Given the description of an element on the screen output the (x, y) to click on. 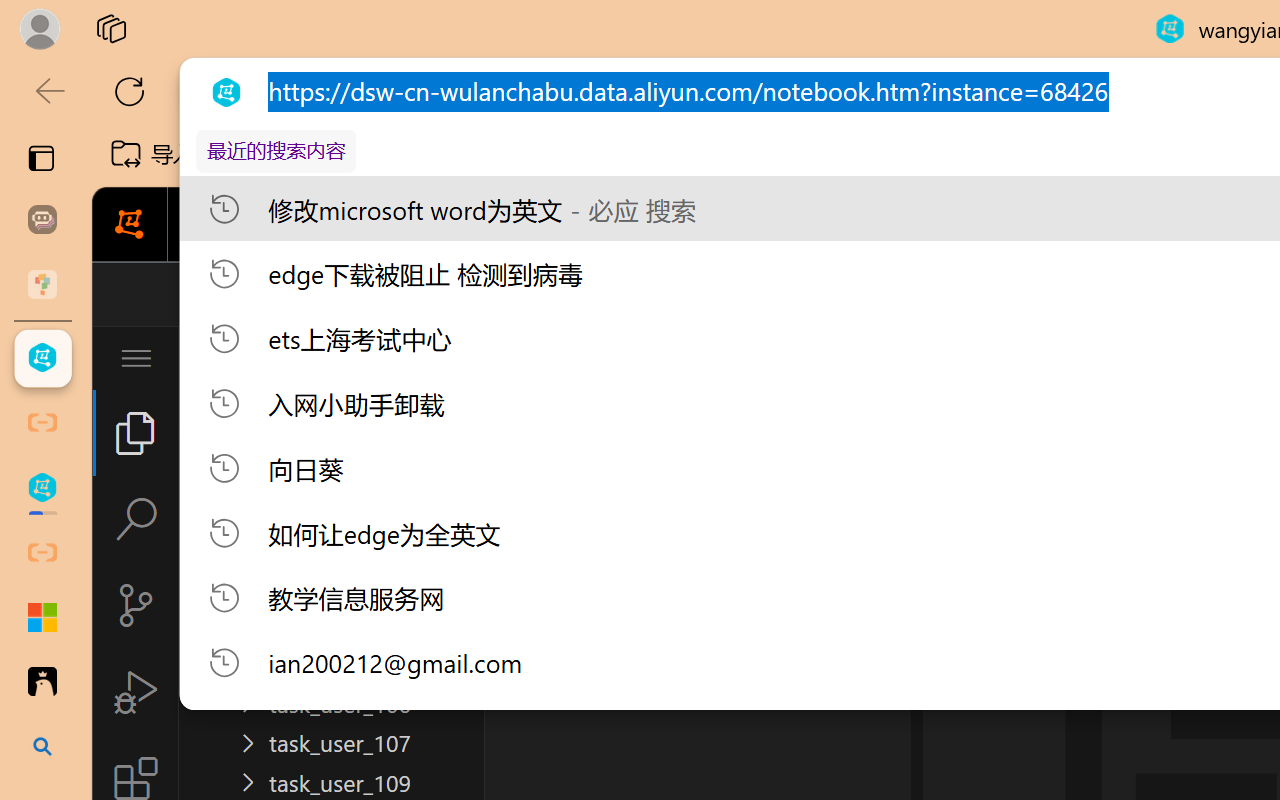
Adjust indents and spacing - Microsoft Support (42, 617)
Go Forward (Alt+RightArrow) (652, 294)
Views and More Actions... (442, 357)
Source Control (Ctrl+Shift+G) (135, 604)
Class: menubar compact overflow-menu-only inactive (135, 358)
Wikipedia, the free encyclopedia (437, 154)
WebIDE (854, 225)
SJTUvpn (774, 154)
Gmail (637, 154)
